Given the description of an element on the screen output the (x, y) to click on. 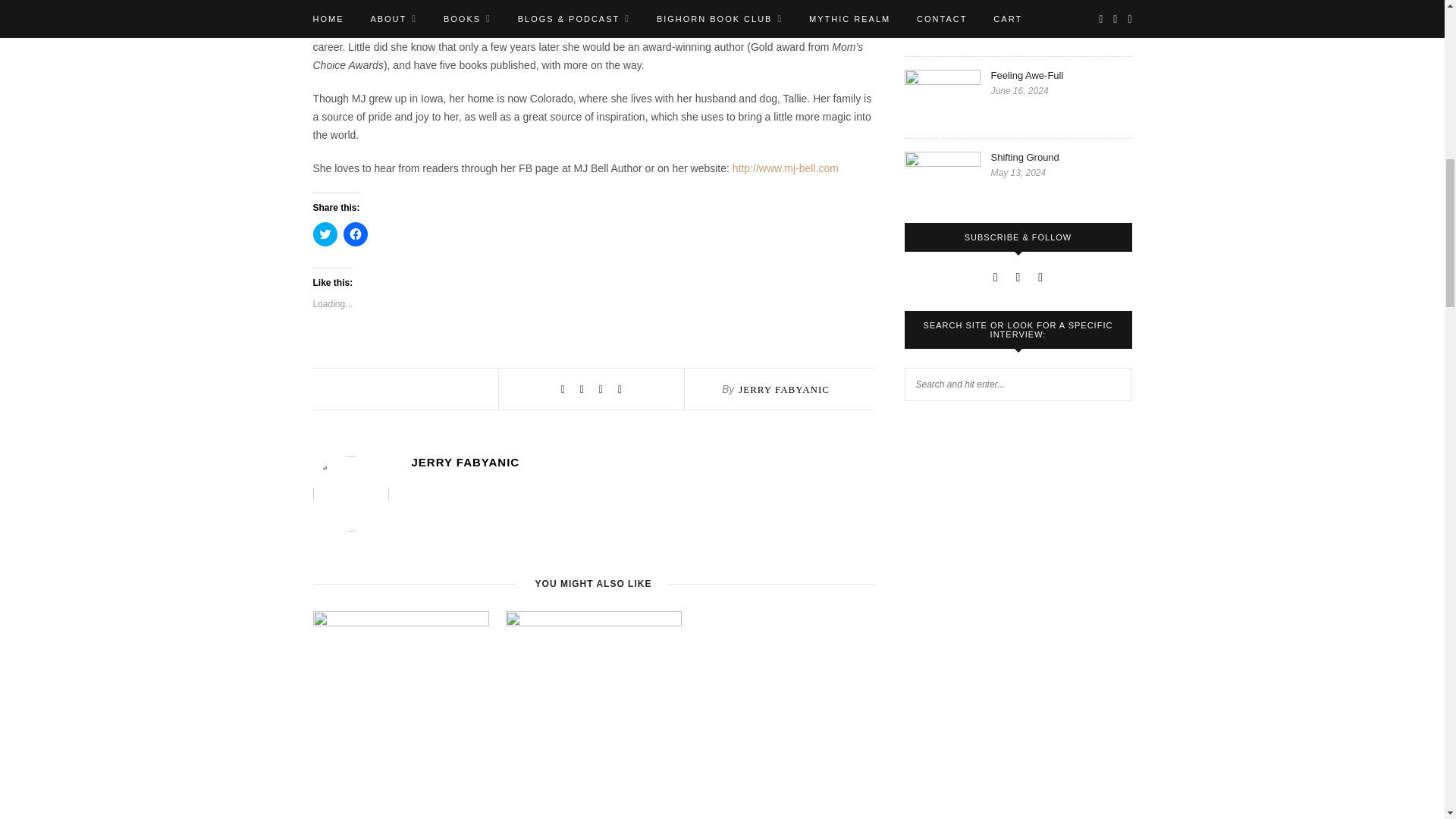
Posts by Jerry Fabyanic (783, 389)
Posts by Jerry Fabyanic (641, 461)
Click to share on Facebook (354, 233)
Click to share on Twitter (324, 233)
